Given the description of an element on the screen output the (x, y) to click on. 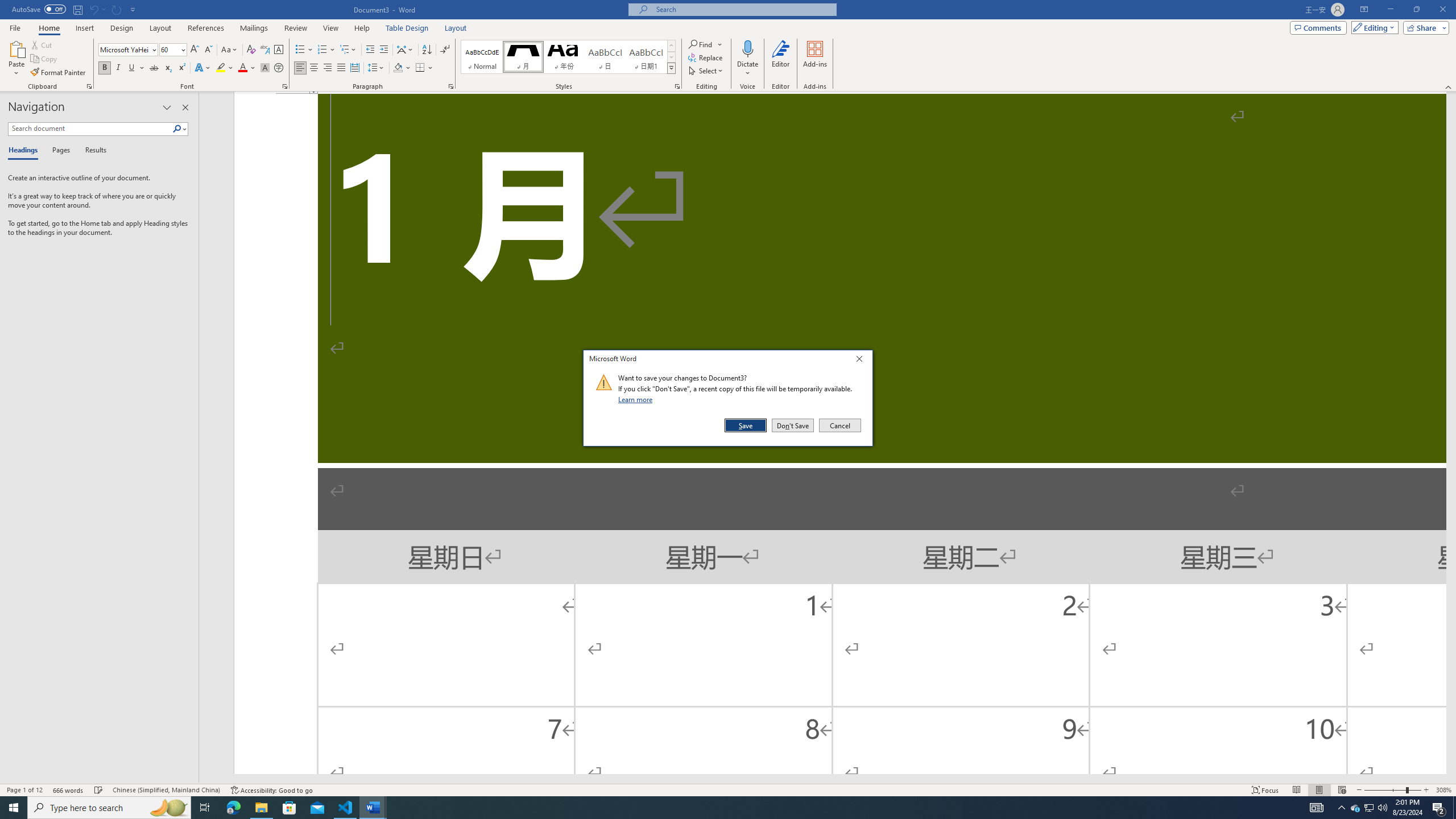
Center (313, 67)
Read Mode (1296, 790)
Replace... (705, 56)
Paragraph... (450, 85)
Notification Chevron (1341, 807)
Align Left (300, 67)
Search (177, 128)
Font Size (169, 49)
Word Count 666 words (68, 790)
AutoSave (38, 9)
Show/Hide Editing Marks (444, 49)
Pages (1355, 807)
Focus  (59, 150)
